Given the description of an element on the screen output the (x, y) to click on. 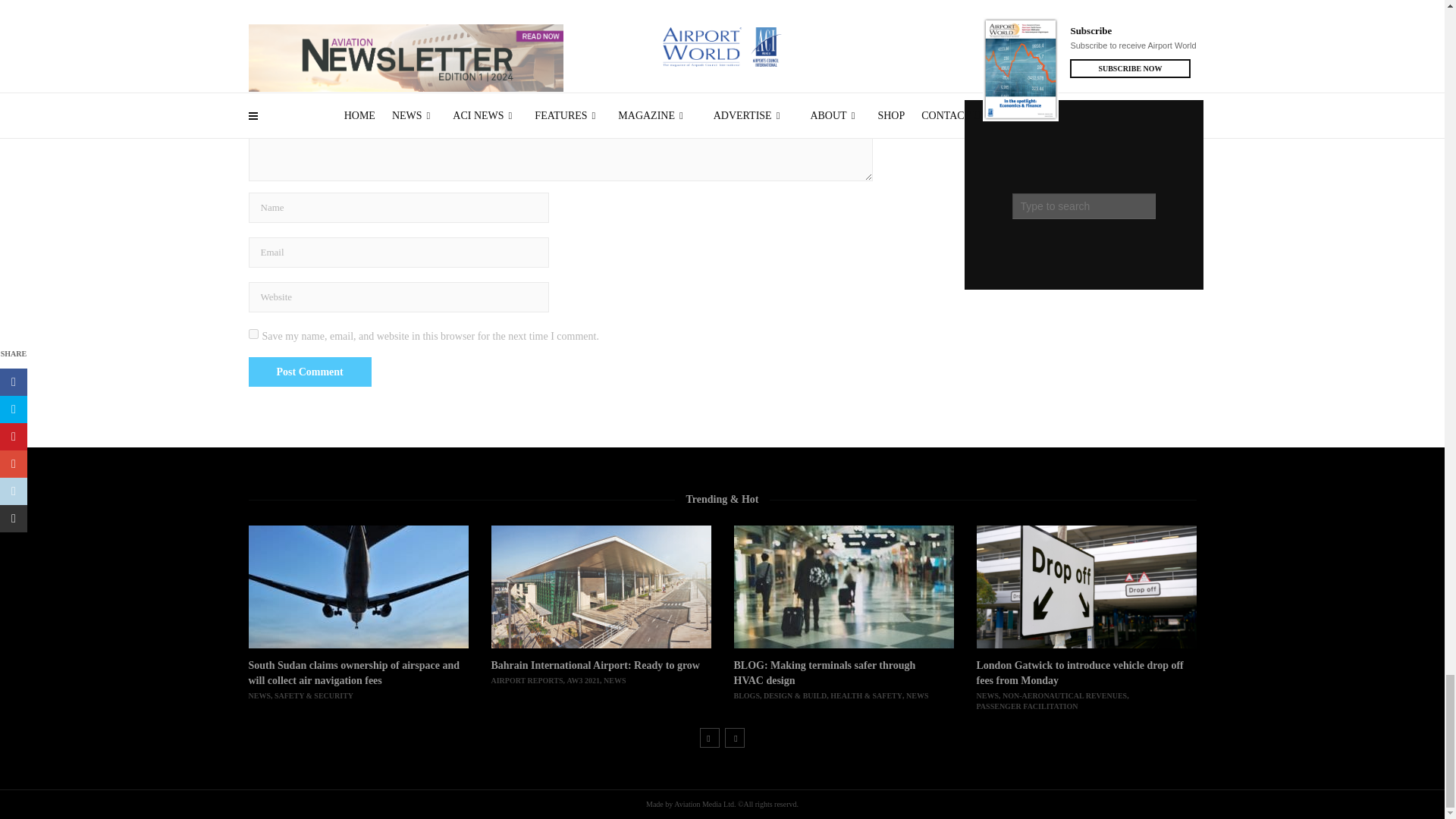
Post Comment (309, 371)
yes (253, 334)
